Given the description of an element on the screen output the (x, y) to click on. 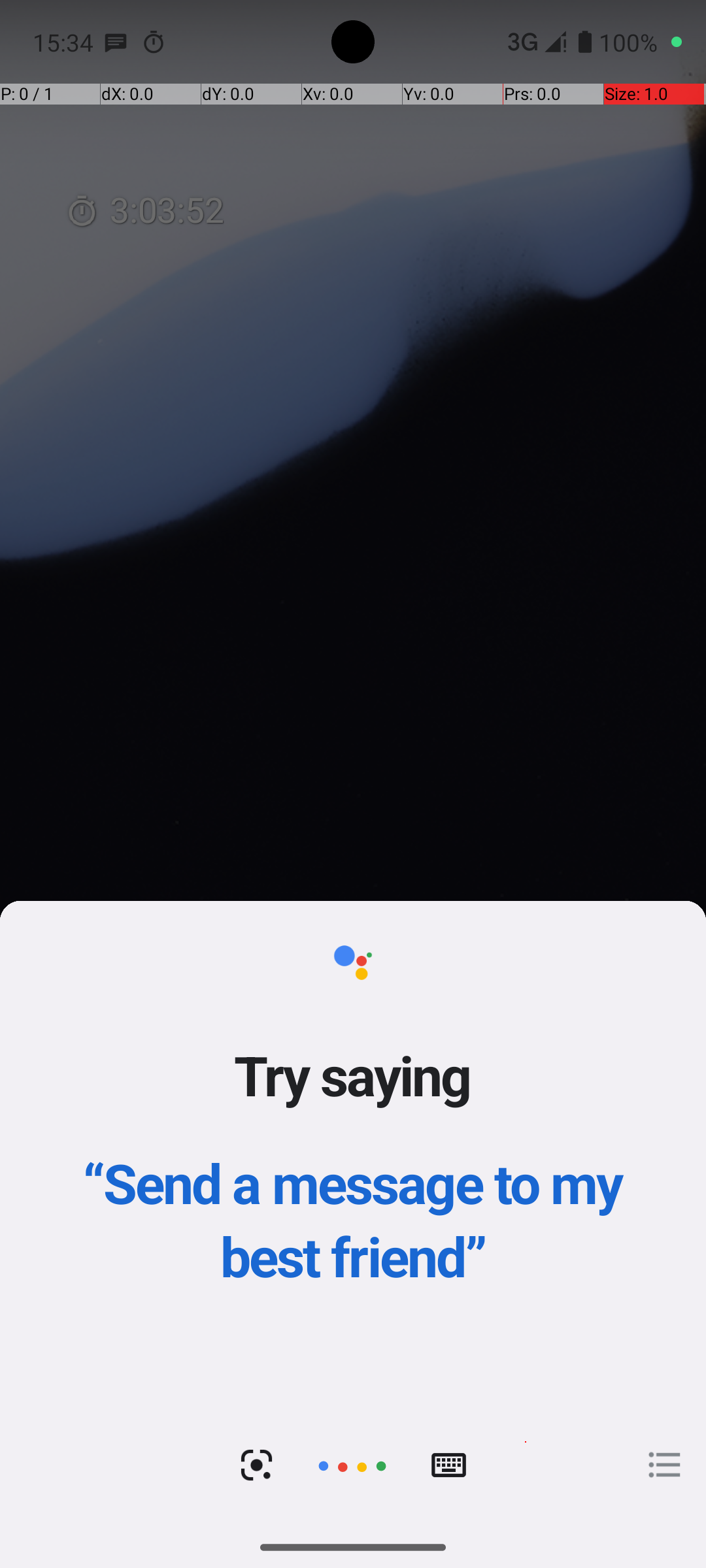
Google Assistant greeting container. Element type: android.widget.LinearLayout (353, 1151)
Tap to cancel Element type: android.view.View (351, 1465)
Google Assistant greeting. Element type: android.widget.FrameLayout (353, 1213)
Try saying Element type: android.widget.TextView (352, 1074)
“Send a message to my best friend” Element type: android.widget.TextView (352, 1218)
